Given the description of an element on the screen output the (x, y) to click on. 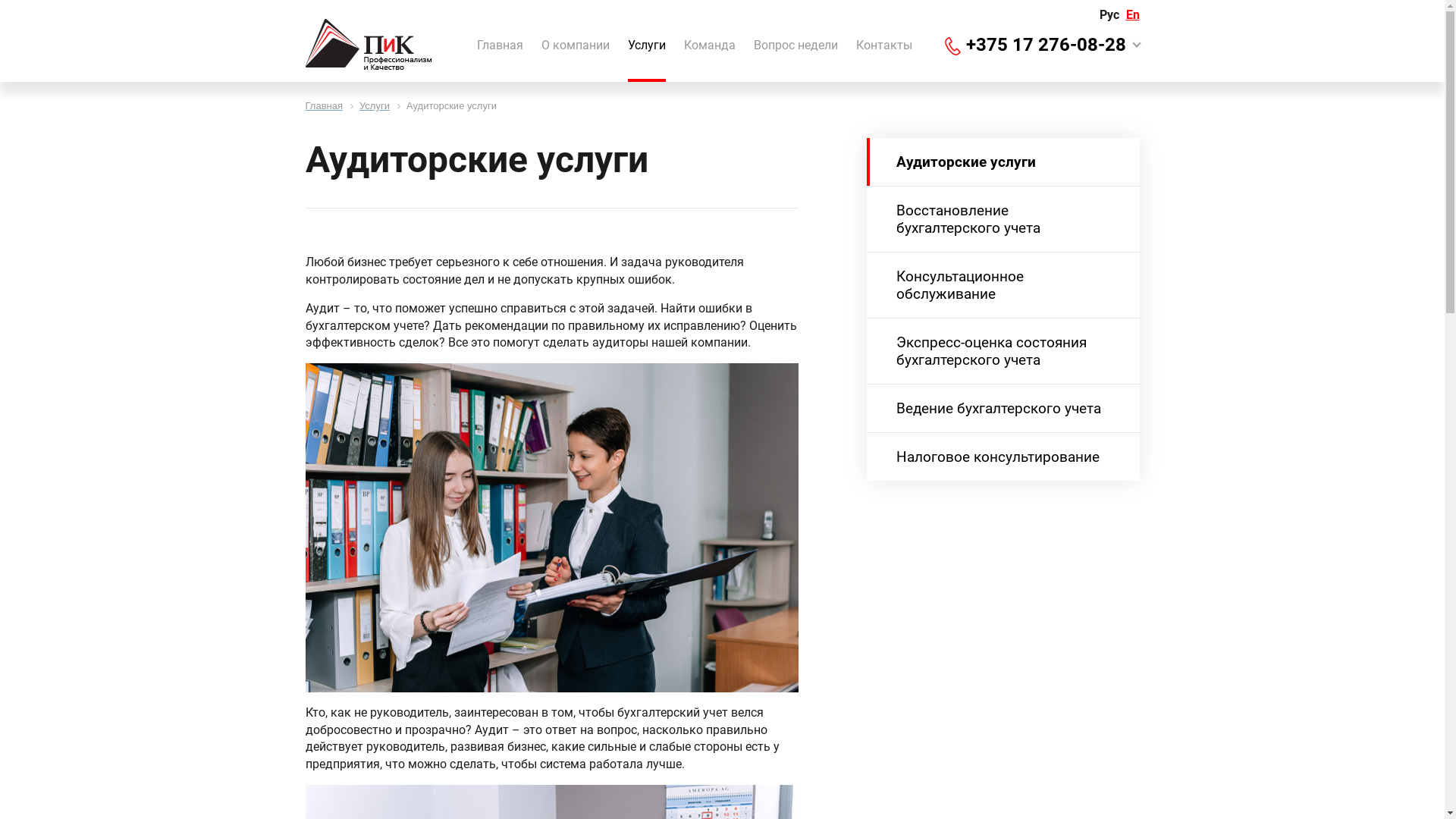
En Element type: text (1132, 14)
+375 17 276-08-28 Element type: text (1046, 44)
